Given the description of an element on the screen output the (x, y) to click on. 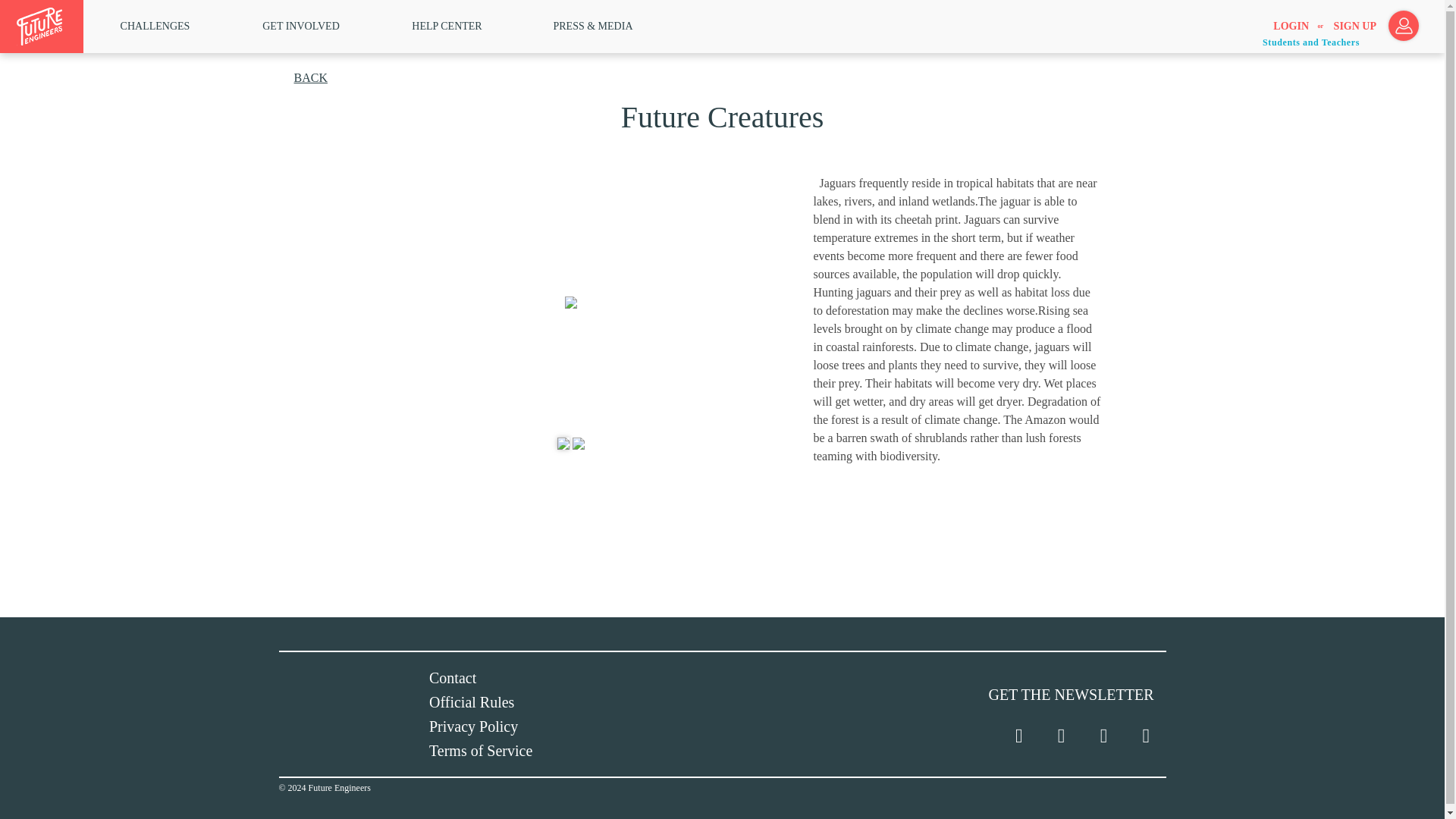
CHALLENGES (155, 25)
Follow us on Youtube (1145, 736)
Follow us on Facebook (1060, 736)
LOGIN (1290, 26)
Back (308, 77)
Follow us on Instagram (1102, 736)
Follow us on Twitter (1019, 736)
SIGN UP (1354, 26)
HELP CENTER (446, 25)
